Given the description of an element on the screen output the (x, y) to click on. 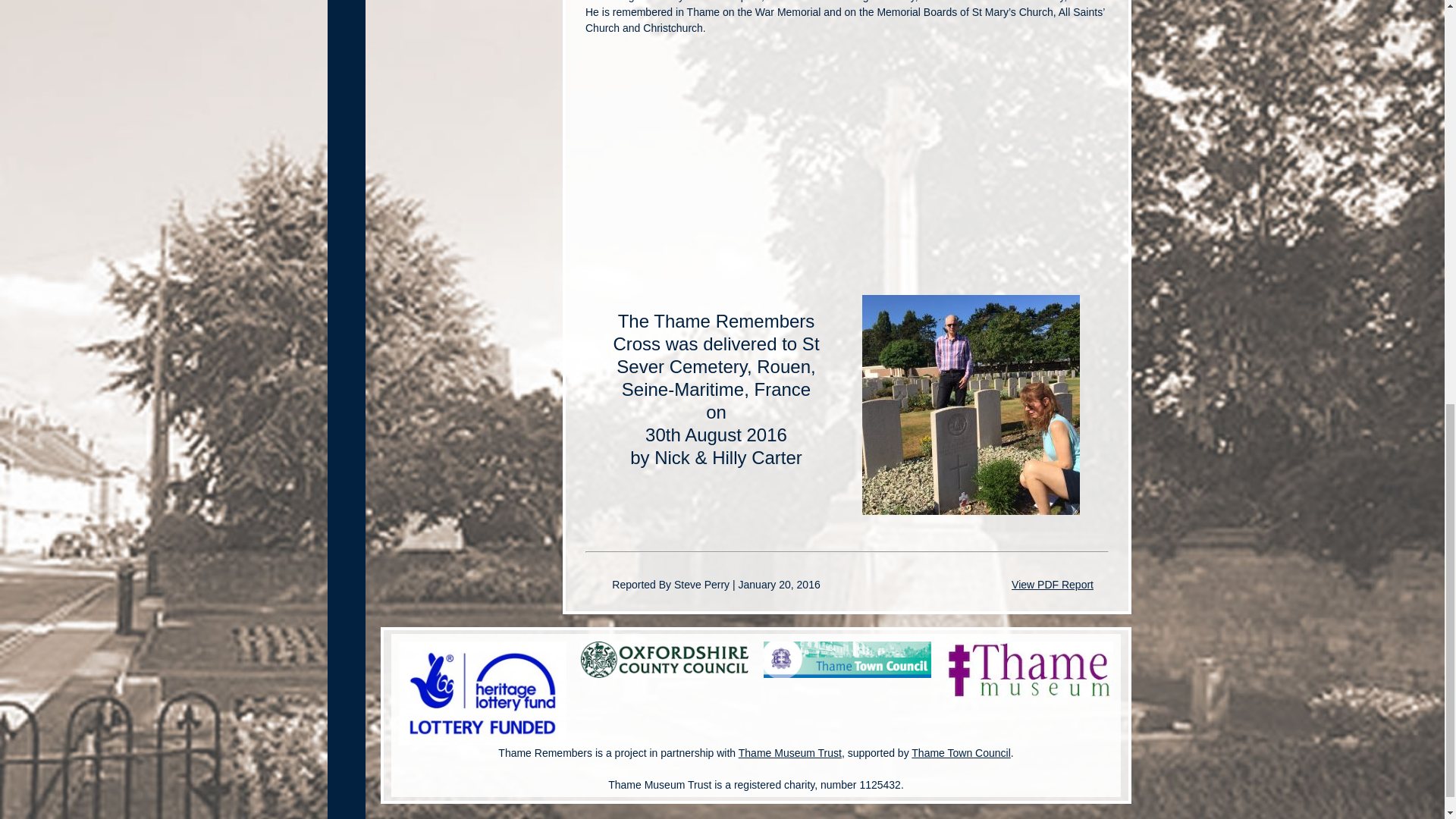
Thame Town Council (960, 752)
View PDF Report (1052, 584)
Thame Museum Trust (789, 752)
